Given the description of an element on the screen output the (x, y) to click on. 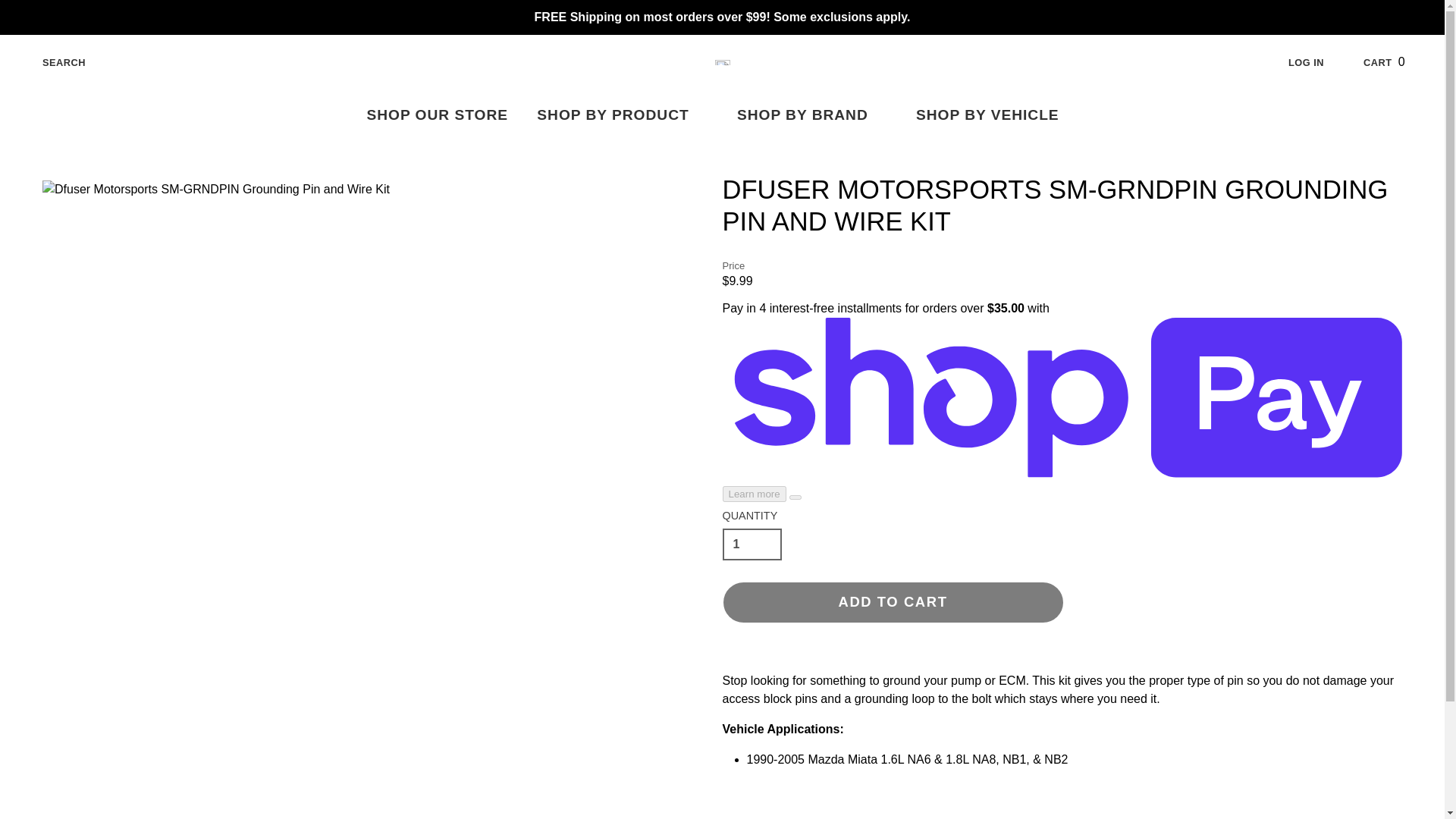
SHOP OUR STORE (1394, 62)
LOG IN (437, 115)
SHOP BY BRAND (1318, 62)
SHOP BY PRODUCT (811, 115)
SEARCH (622, 115)
